Given the description of an element on the screen output the (x, y) to click on. 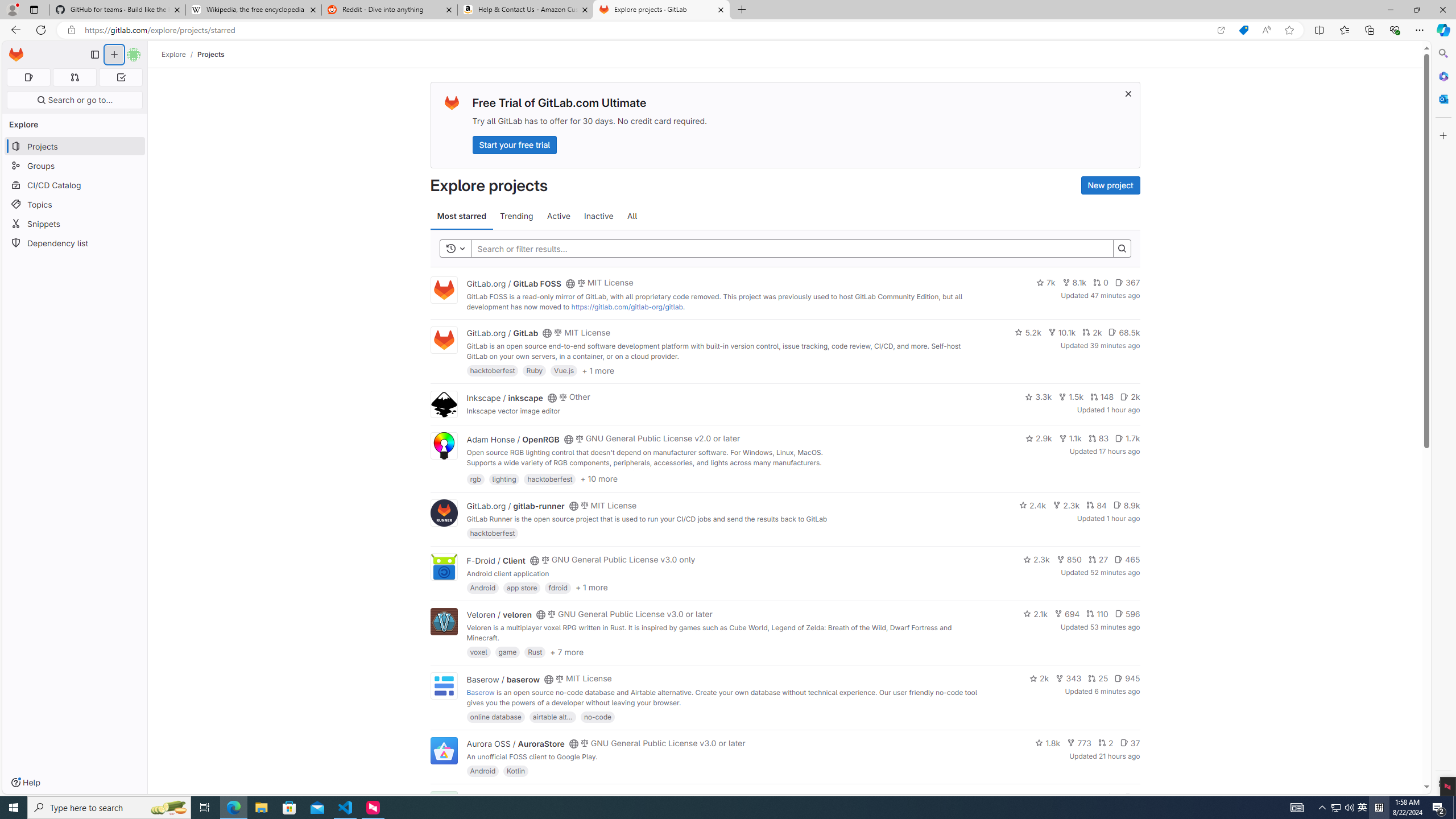
1 (1111, 797)
F (443, 805)
Explore (173, 53)
37 (1129, 742)
1.8k (1048, 742)
CI/CD Catalog (74, 185)
game (507, 651)
1.5k (1070, 396)
Most starred (461, 216)
Dependency list (74, 242)
Rust (535, 651)
694 (1067, 613)
Open in app (1220, 29)
